Given the description of an element on the screen output the (x, y) to click on. 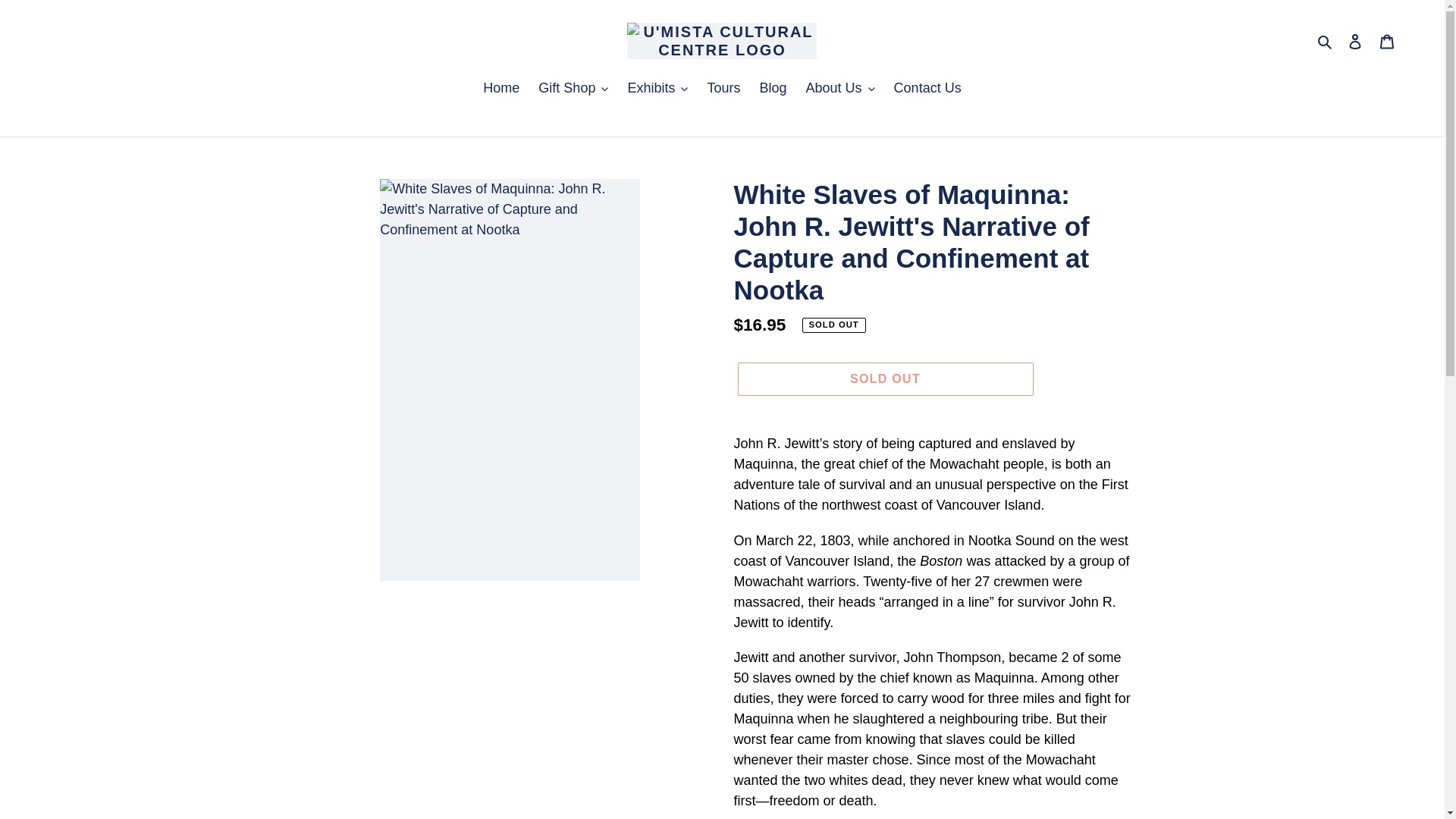
Log in (1355, 40)
Search (1326, 41)
Cart (1387, 40)
